Given the description of an element on the screen output the (x, y) to click on. 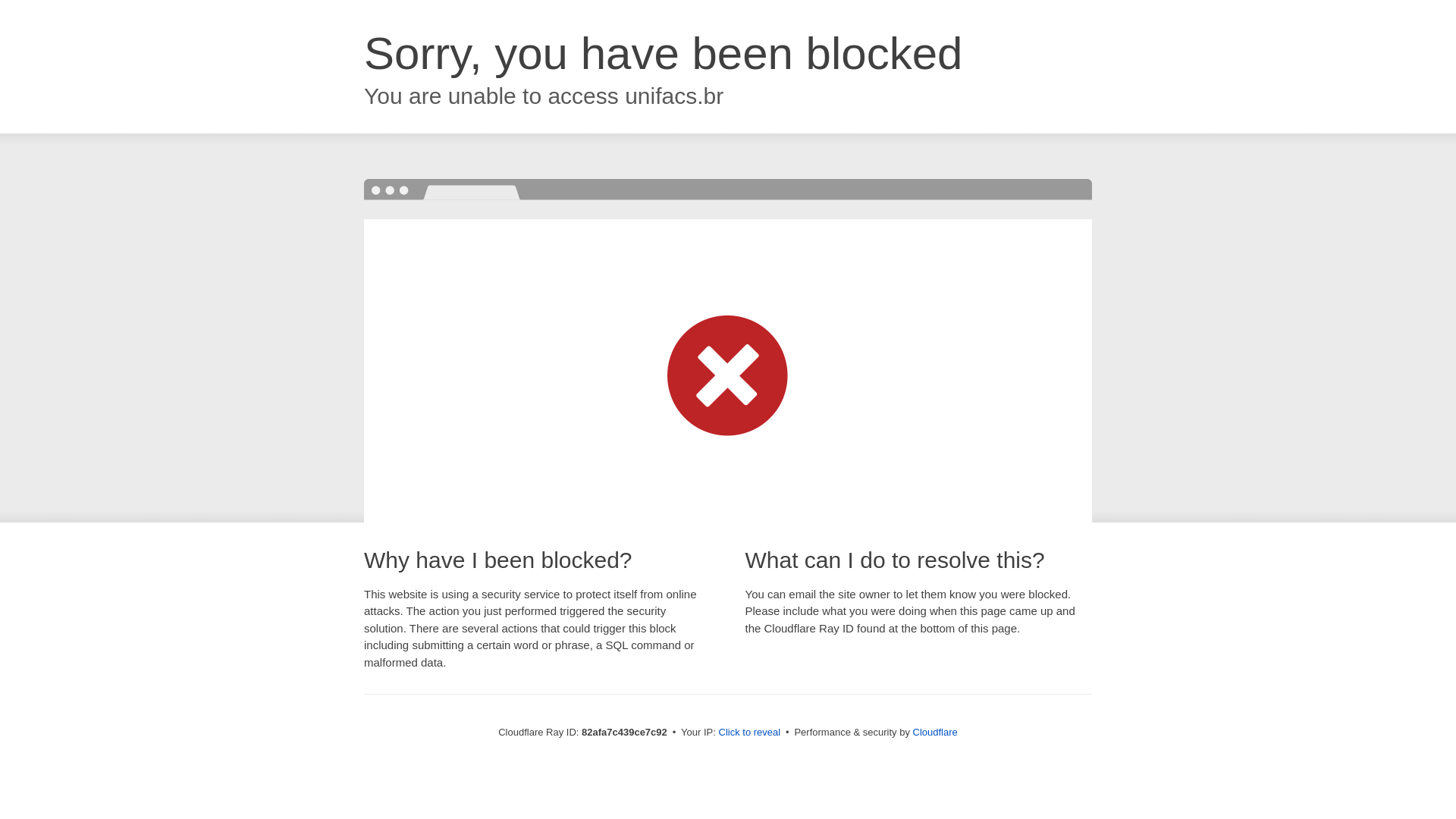
Cloudflare Element type: text (935, 731)
Click to reveal Element type: text (749, 732)
